Given the description of an element on the screen output the (x, y) to click on. 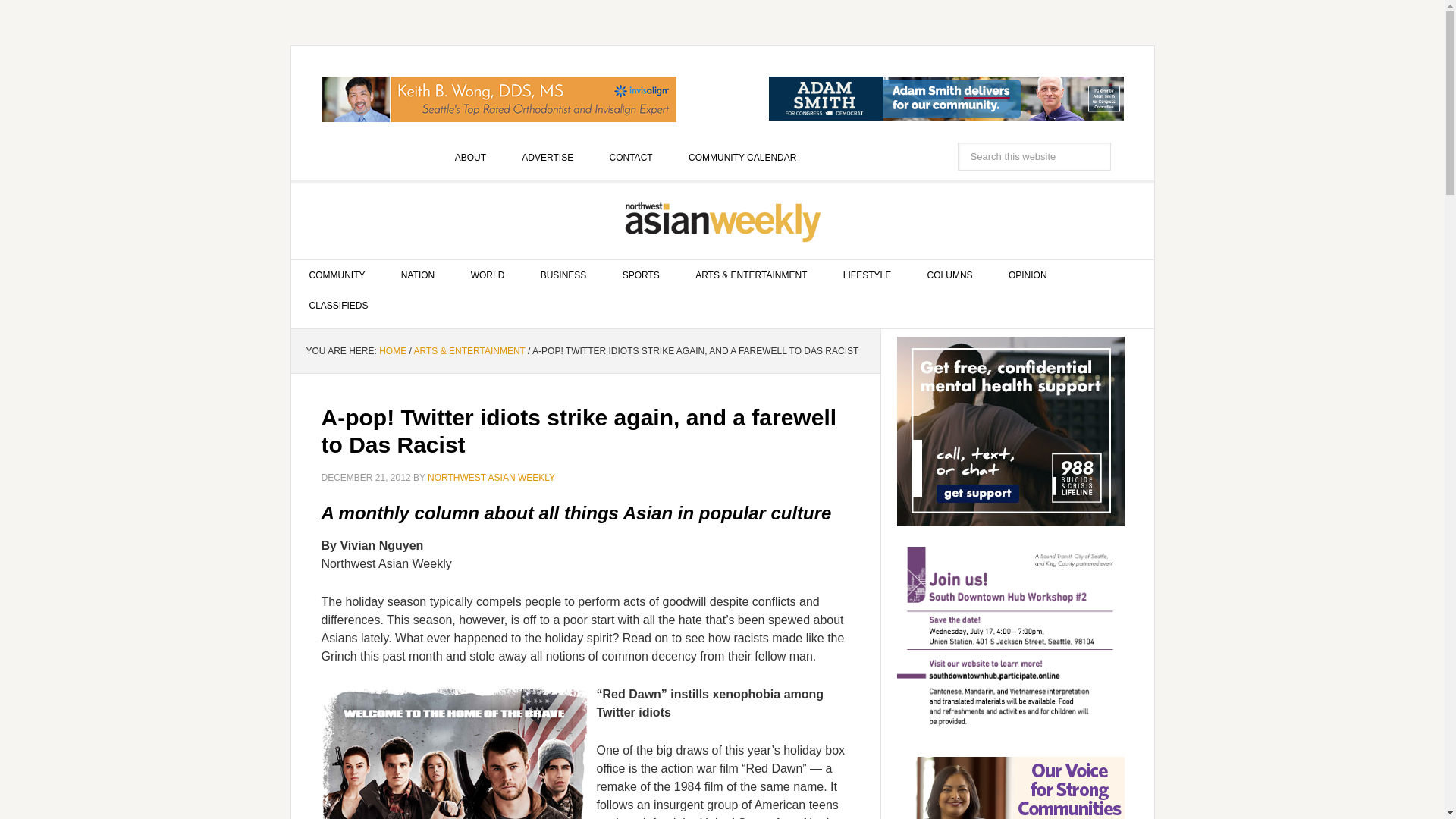
CLASSIFIEDS (339, 305)
NORTHWEST ASIAN WEEKLY (722, 221)
WORLD (487, 275)
BUSINESS (563, 275)
LIFESTYLE (866, 275)
COLUMNS (949, 275)
NATION (417, 275)
OPINION (1027, 275)
NORTHWEST ASIAN WEEKLY (491, 477)
COMMUNITY (337, 275)
COMMUNITY CALENDAR (741, 157)
HOME (392, 350)
